Given the description of an element on the screen output the (x, y) to click on. 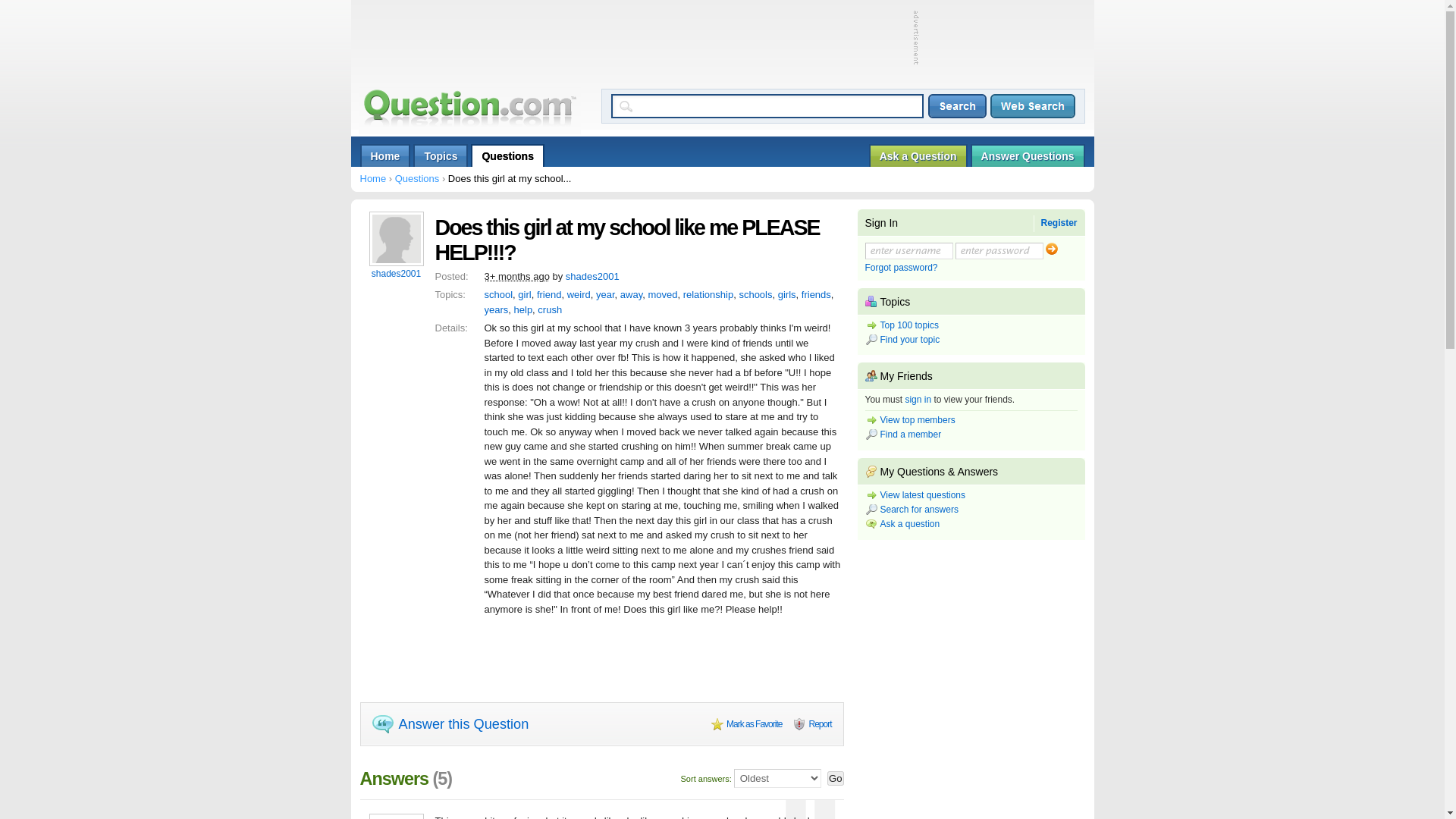
friend (549, 294)
moved (662, 294)
shades2001 (396, 273)
weird (579, 294)
help (522, 308)
year (604, 294)
Mark as Favorite (746, 724)
Questions (416, 178)
Answer Questions (1027, 155)
17 July 2012 3:55pm (515, 275)
Ask a Question (918, 155)
Questions (506, 155)
crush (549, 308)
Answer this Question (449, 723)
schools (754, 294)
